Given the description of an element on the screen output the (x, y) to click on. 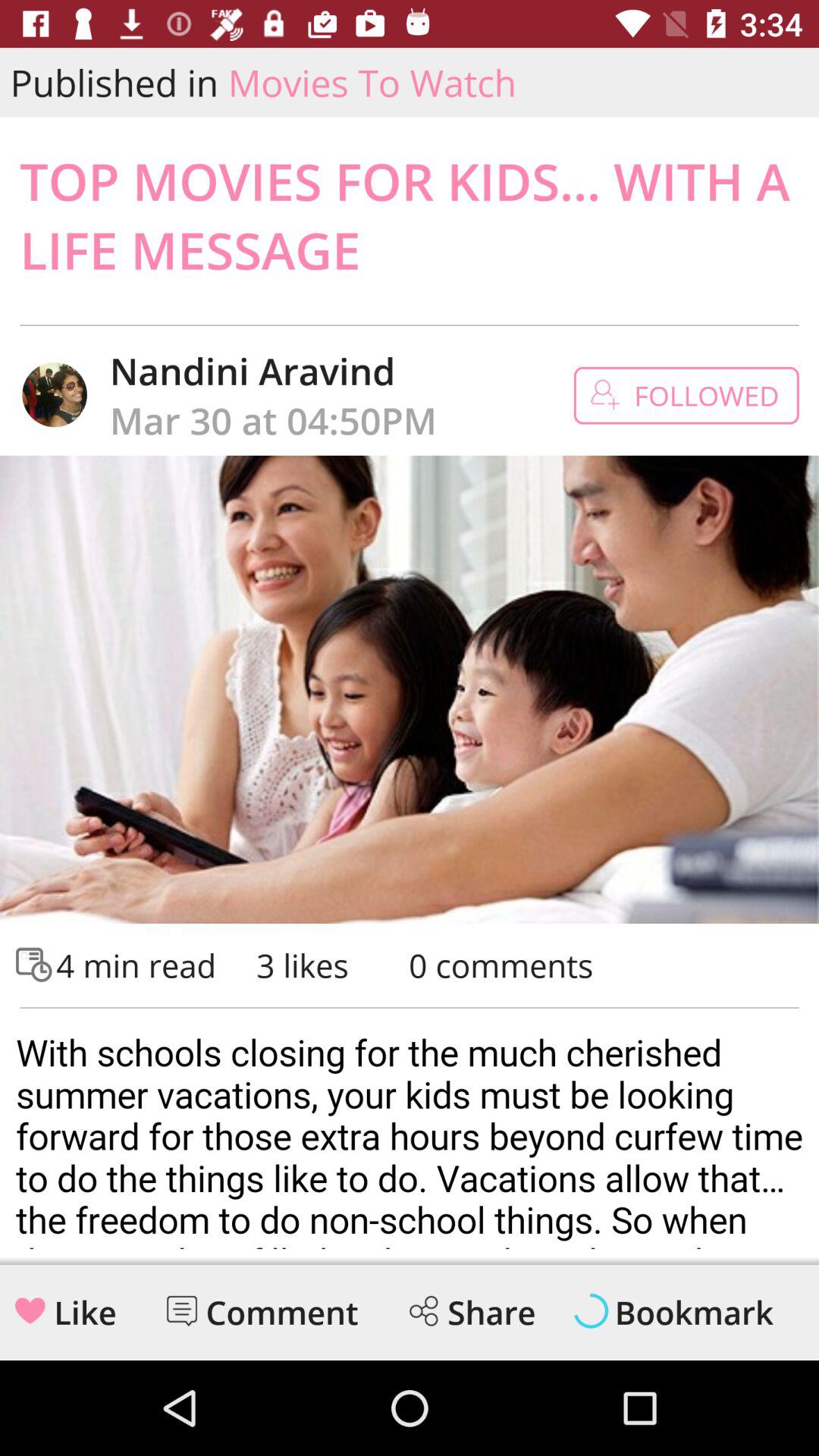
go to share (423, 1310)
